Given the description of an element on the screen output the (x, y) to click on. 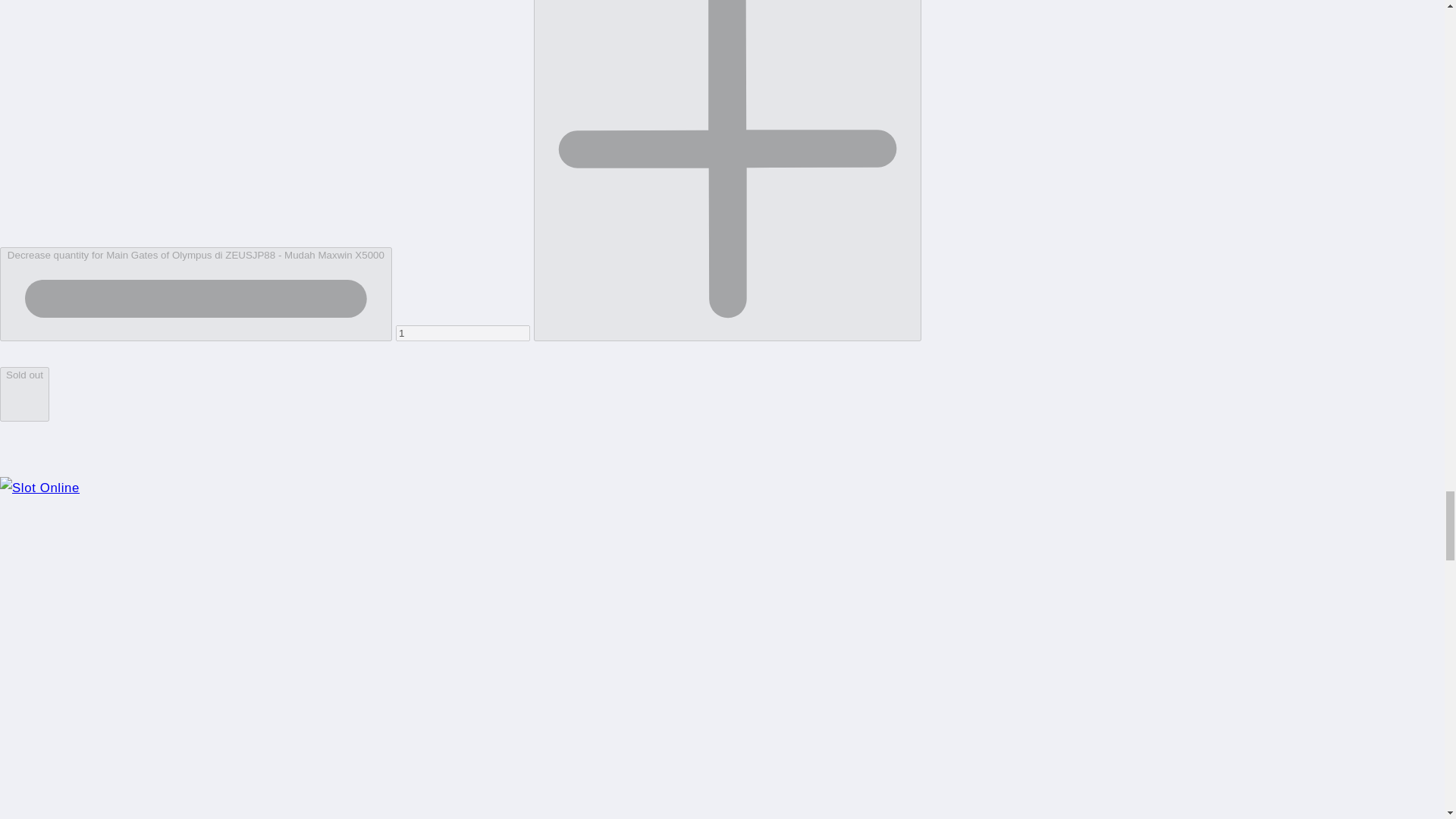
1 (462, 333)
Sold out (24, 394)
